Given the description of an element on the screen output the (x, y) to click on. 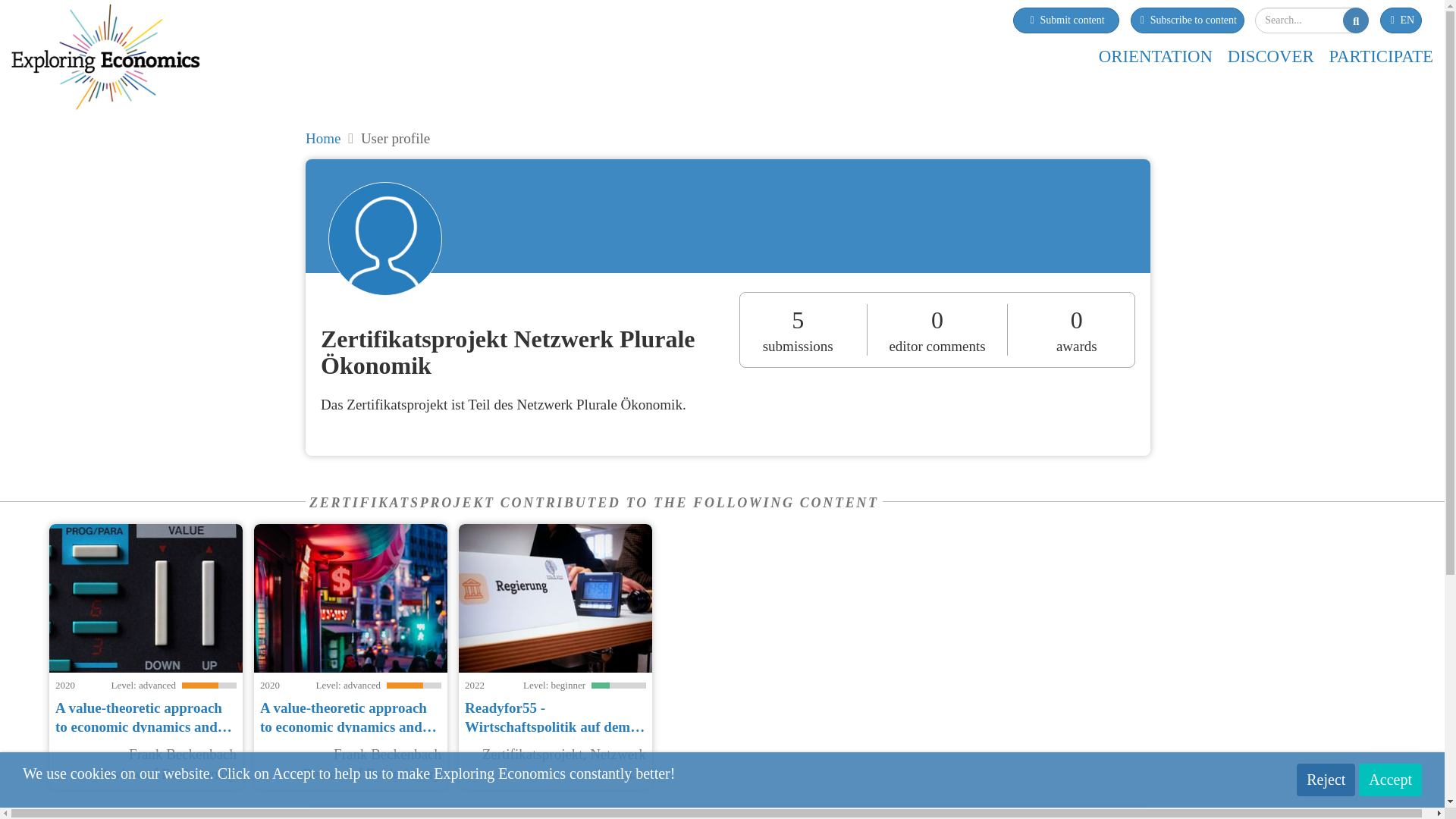
Home (322, 138)
Submit content (1066, 20)
DISCOVER (1270, 56)
ORIENTATION (1155, 56)
EN (1401, 20)
Subscribe to content (1186, 20)
PARTICIPATE (1379, 56)
